Given the description of an element on the screen output the (x, y) to click on. 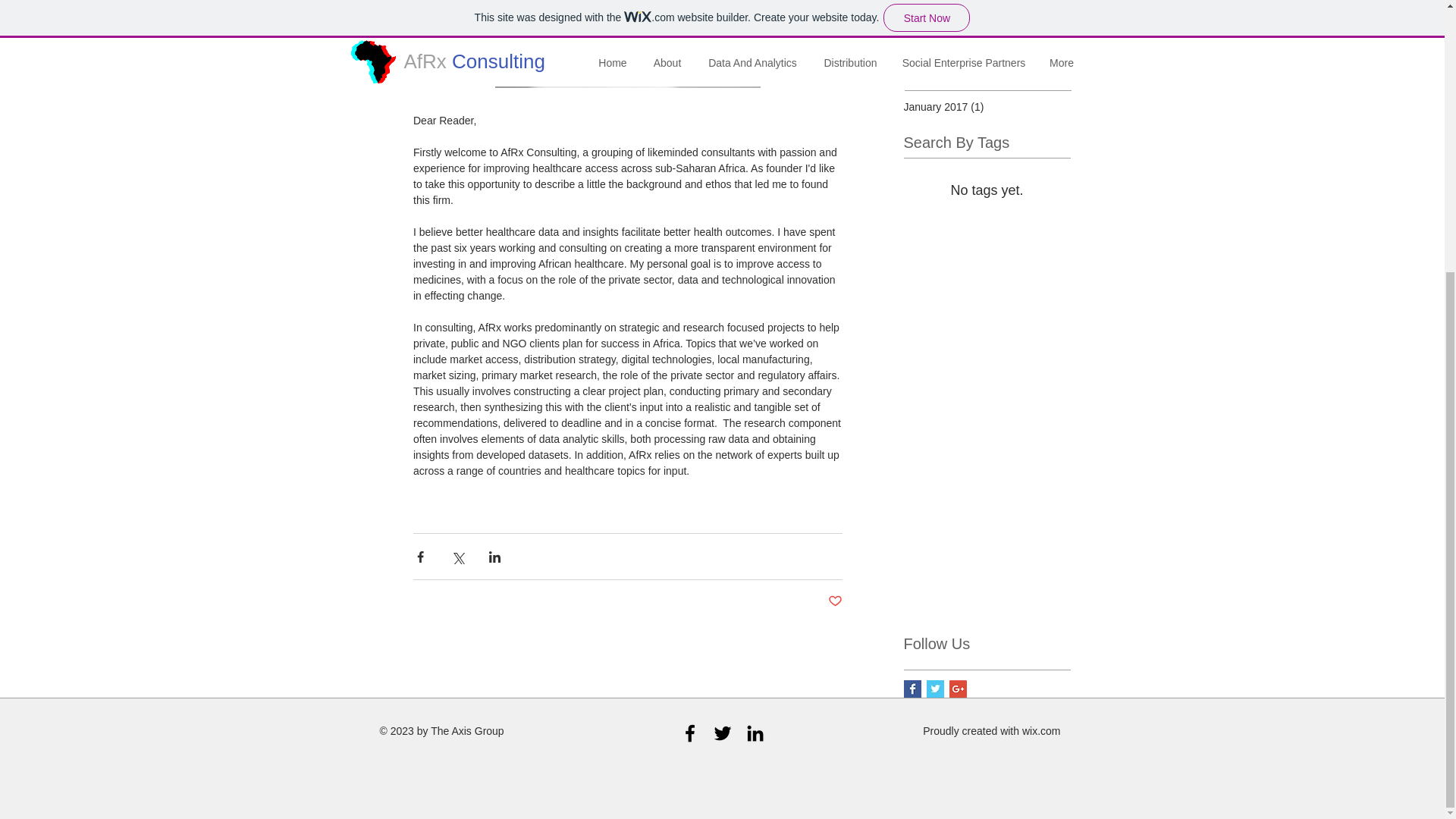
Welcome to AfRx Consulting (1020, 12)
Post not marked as liked (835, 601)
wix.com (1041, 730)
